Given the description of an element on the screen output the (x, y) to click on. 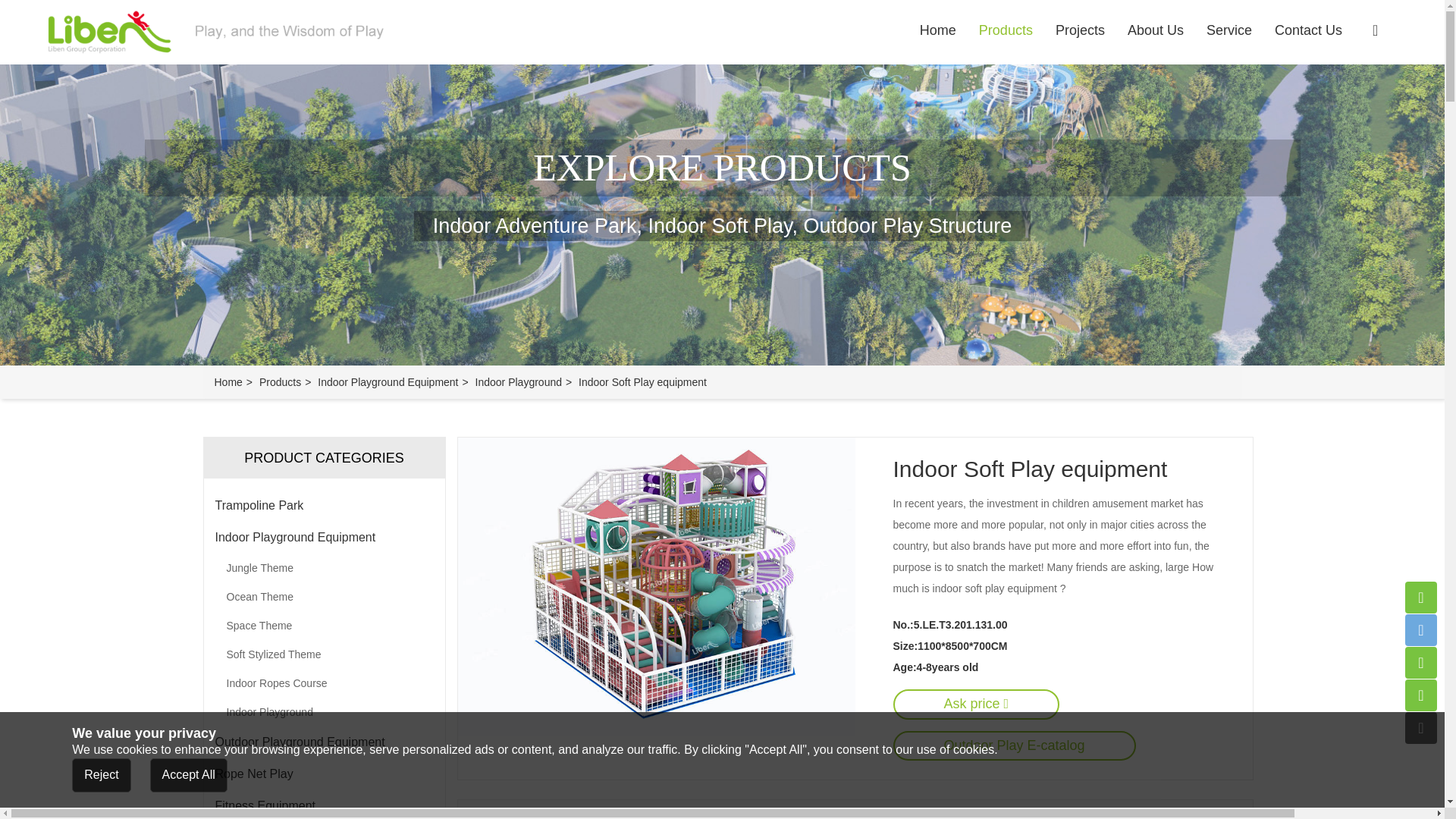
Soft Stylized Theme (323, 654)
Rope Net Play (324, 774)
Indoor Playground Equipment (324, 537)
Home (227, 381)
Rope Net Play (324, 774)
Trampoline Park (324, 505)
Products (280, 381)
Fitness Equipment (324, 804)
Trampoline Park (324, 505)
Space Theme (323, 624)
Service (1229, 30)
Products (1005, 30)
Indoor Playground (323, 711)
Projects (1079, 30)
Indoor Ropes Course (323, 683)
